Given the description of an element on the screen output the (x, y) to click on. 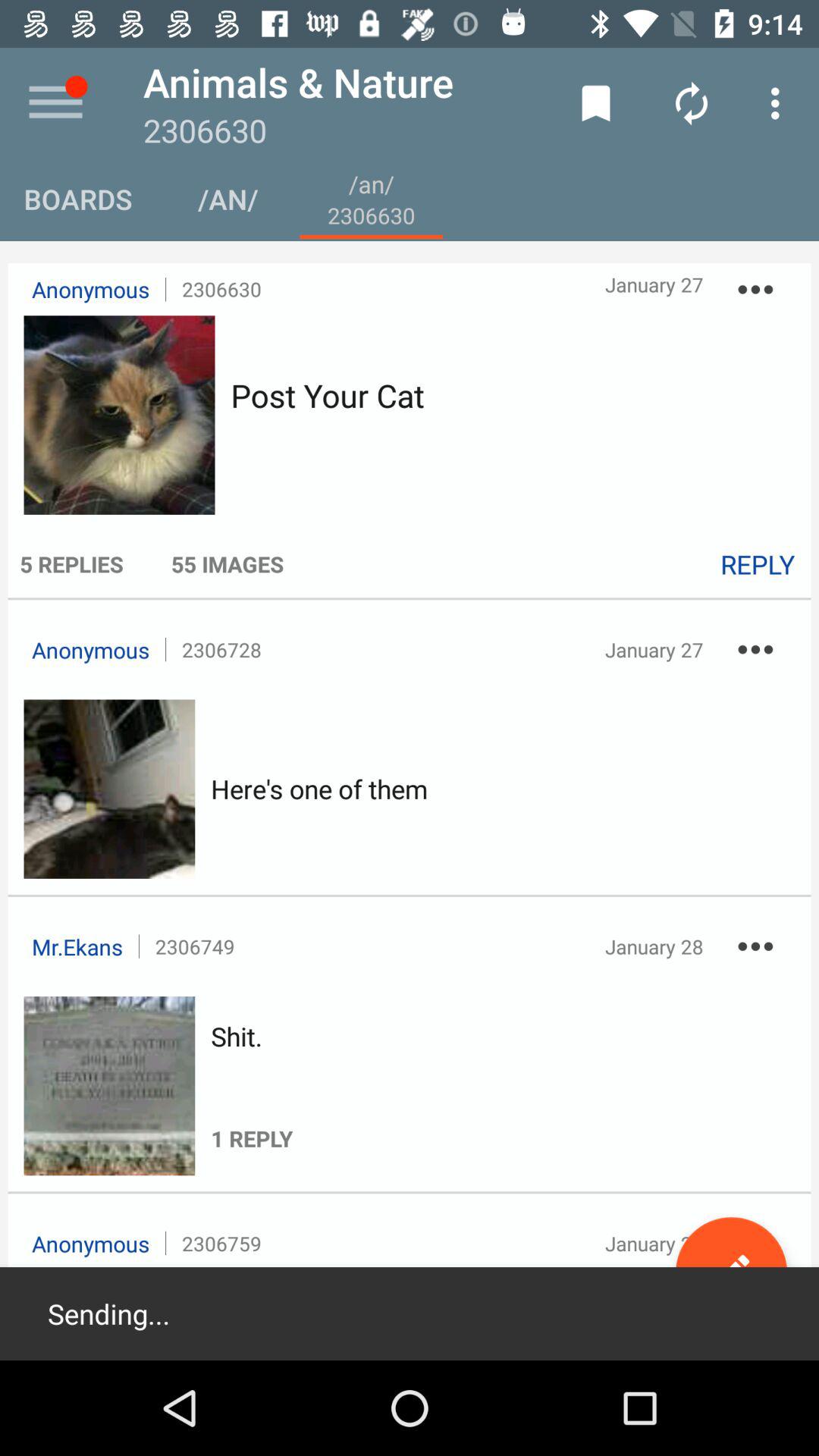
open menu (55, 103)
